Given the description of an element on the screen output the (x, y) to click on. 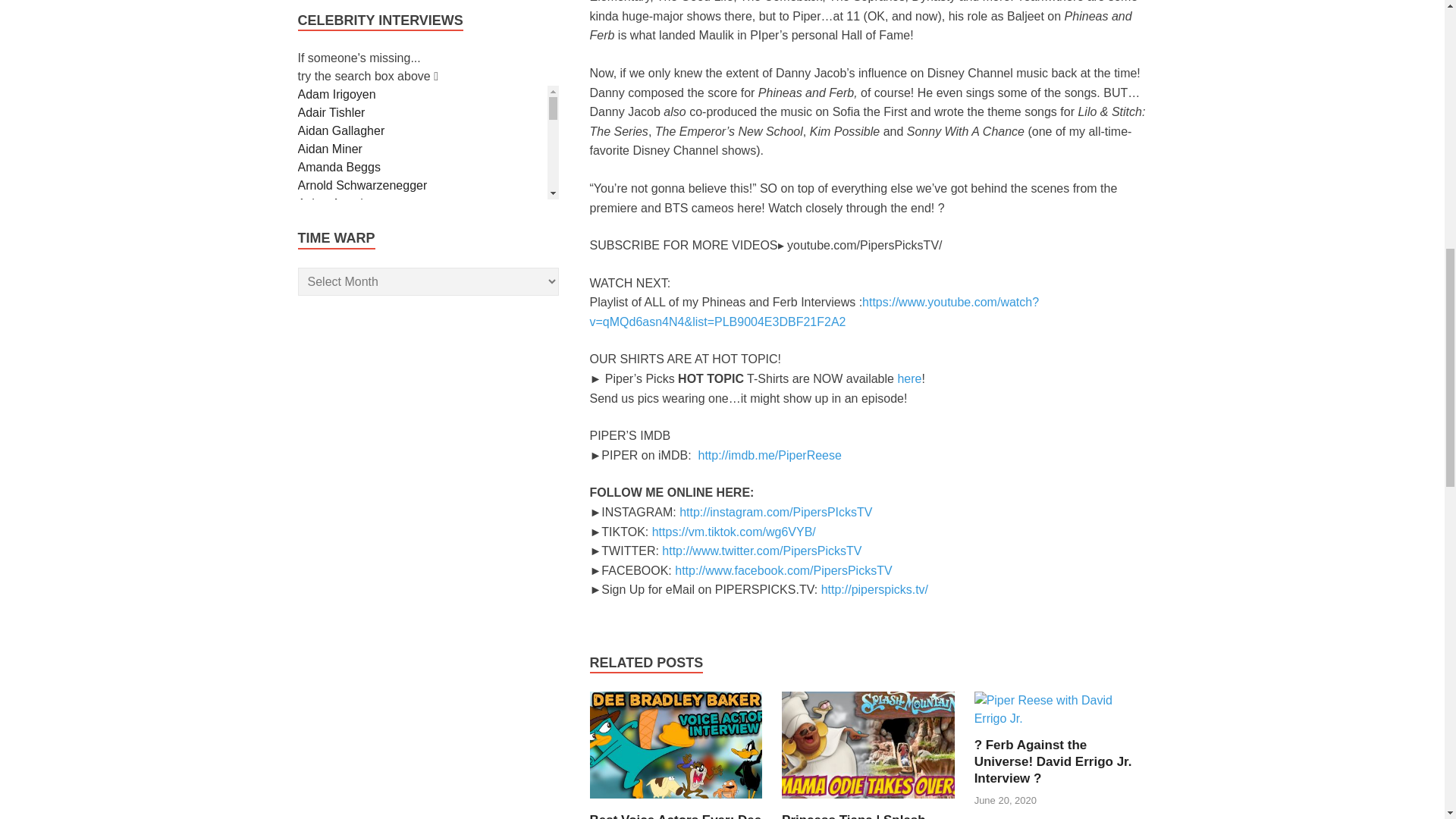
? Ferb Against the Universe! David Errigo Jr. Interview ? (1053, 761)
? Ferb Against the Universe! David Errigo Jr. Interview ? (1060, 717)
Best Voice Actors Ever: Dee Bradley Baker! (675, 802)
Best Voice Actors Ever: Dee Bradley Baker! (675, 816)
here (908, 378)
Best Voice Actors Ever: Dee Bradley Baker! (675, 816)
